Given the description of an element on the screen output the (x, y) to click on. 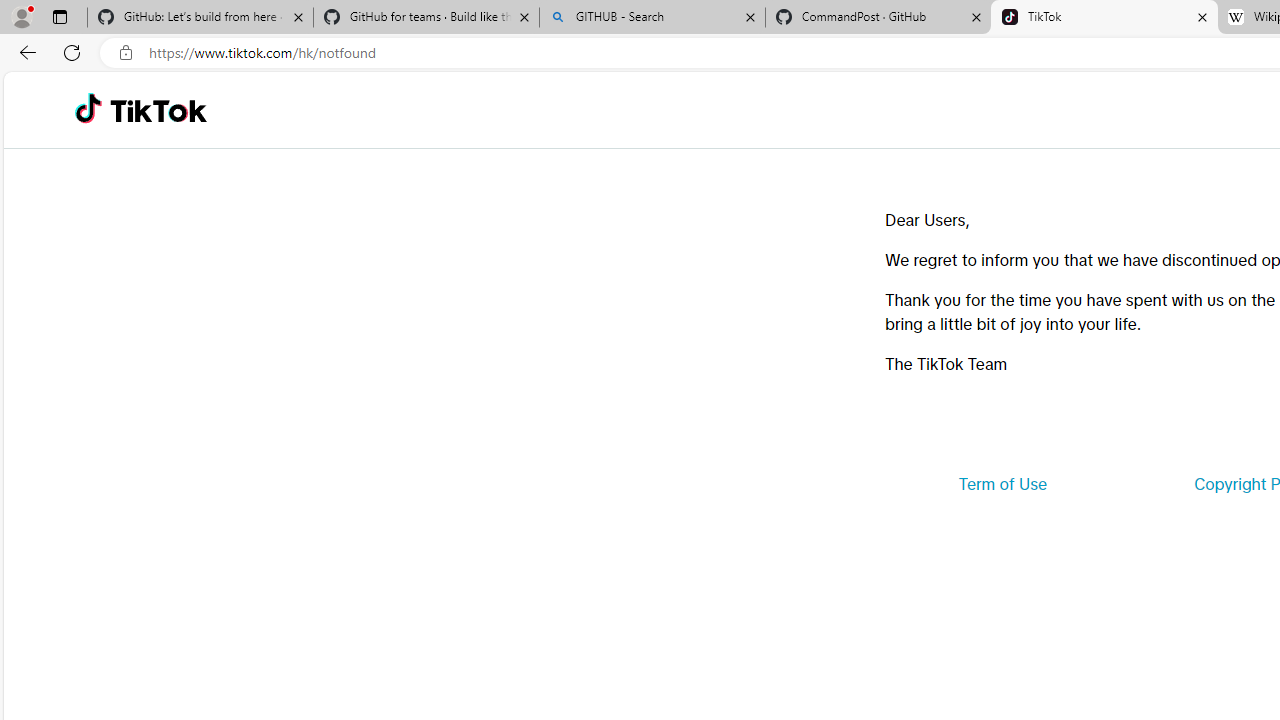
Term of Use (1002, 484)
GITHUB - Search (652, 17)
TikTok (1104, 17)
TikTok (158, 110)
